Given the description of an element on the screen output the (x, y) to click on. 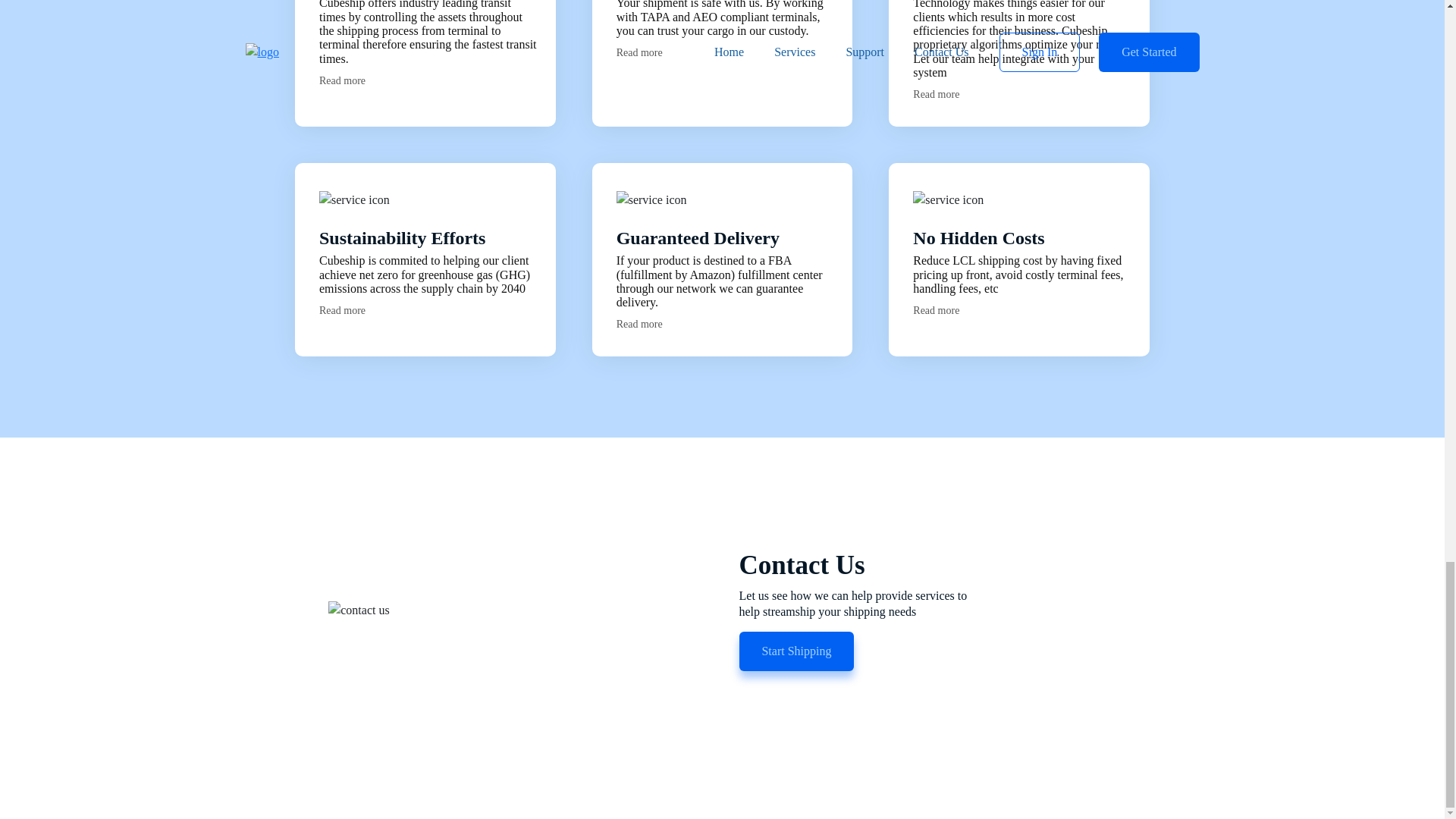
Read more (942, 310)
Start Shipping (795, 650)
Read more (646, 324)
Read more (646, 52)
Read more (348, 80)
Read more (942, 93)
Read more (348, 310)
